Given the description of an element on the screen output the (x, y) to click on. 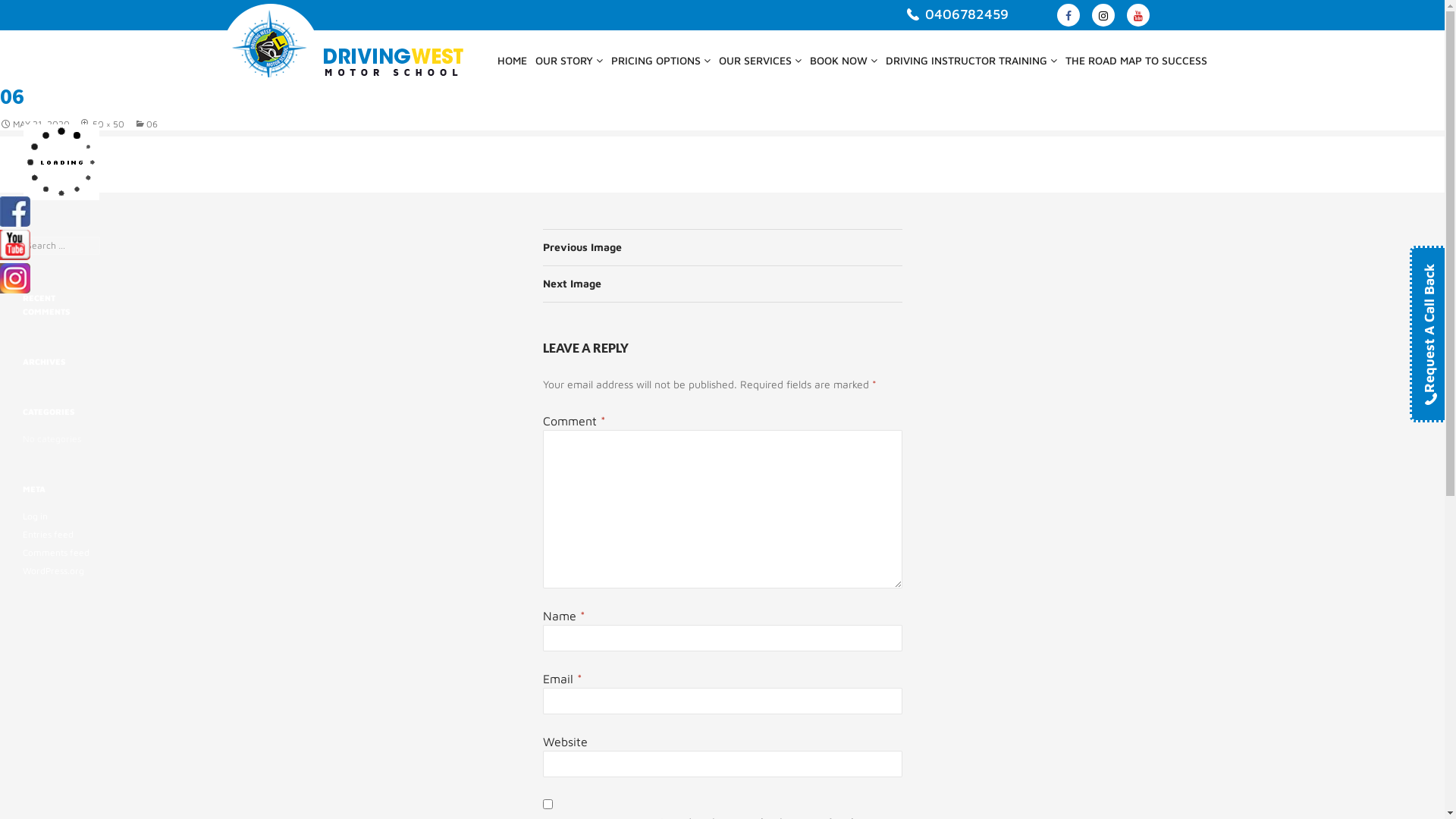
Comments feed Element type: text (55, 552)
Next Image Element type: text (722, 284)
BOOK NOW Element type: text (842, 57)
0406782459 Element type: text (966, 13)
Skip to content Element type: text (221, 30)
HOME Element type: text (511, 57)
OUR STORY Element type: text (568, 57)
Previous Image Element type: text (722, 247)
DRIVING INSTRUCTOR TRAINING Element type: text (970, 57)
THE ROAD MAP TO SUCCESS Element type: text (1136, 57)
WordPress.org Element type: text (53, 570)
Entries feed Element type: text (47, 533)
Log in Element type: text (34, 515)
06 Element type: text (145, 123)
OUR SERVICES Element type: text (759, 61)
PRICING OPTIONS Element type: text (660, 57)
Search Element type: text (29, 9)
